Given the description of an element on the screen output the (x, y) to click on. 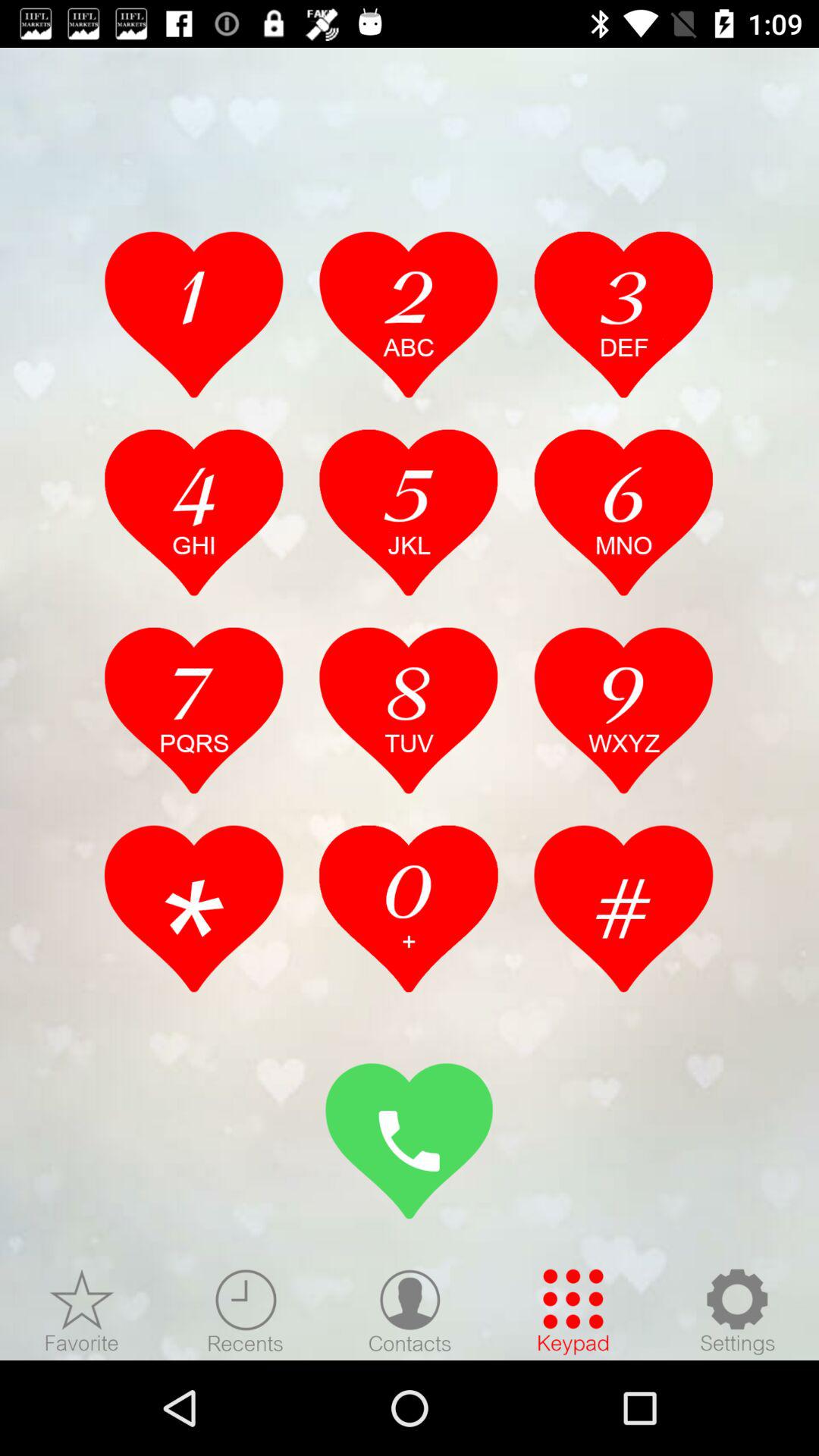
go to favorites (81, 1311)
